Given the description of an element on the screen output the (x, y) to click on. 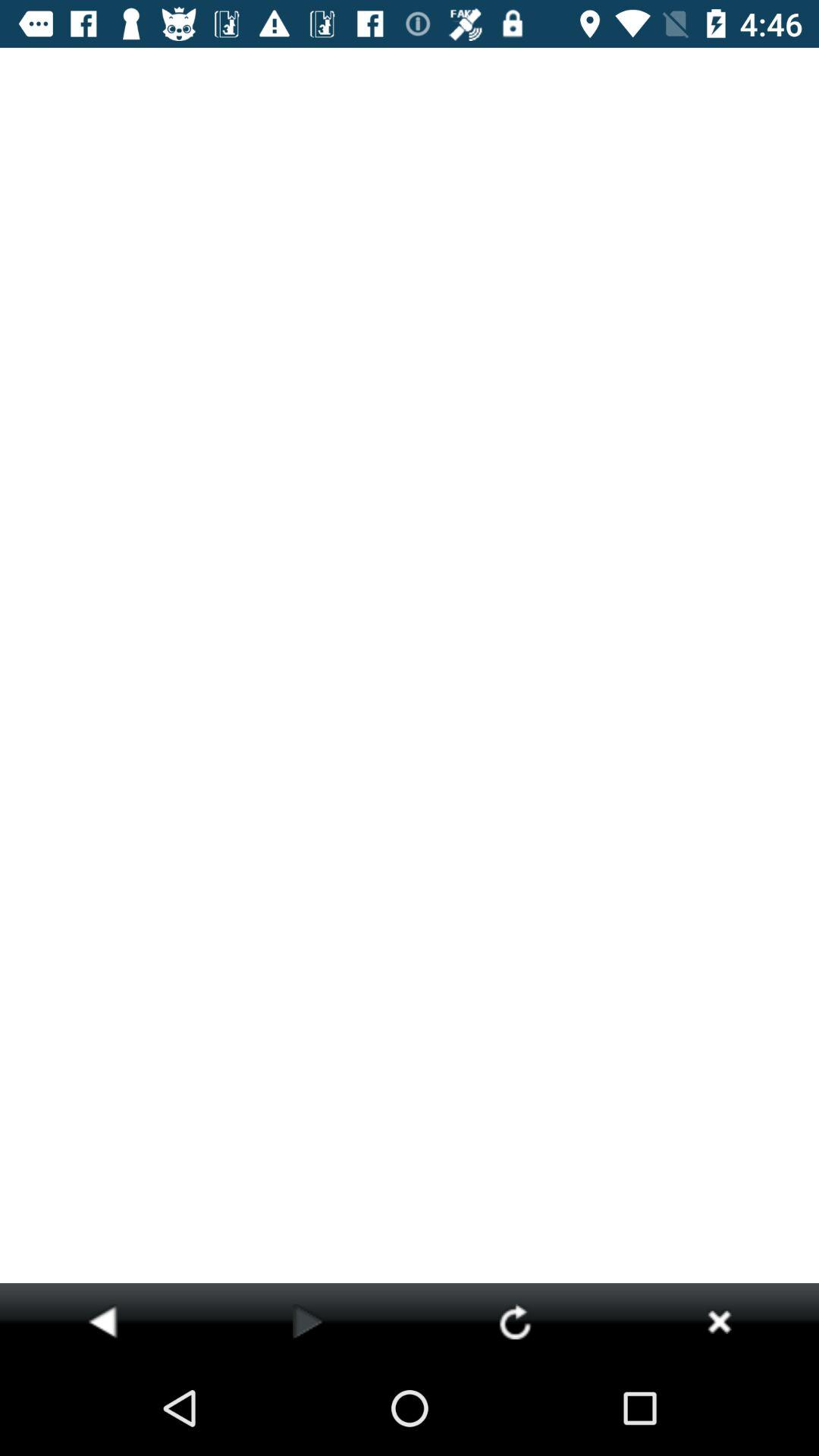
go forward (307, 1321)
